Given the description of an element on the screen output the (x, y) to click on. 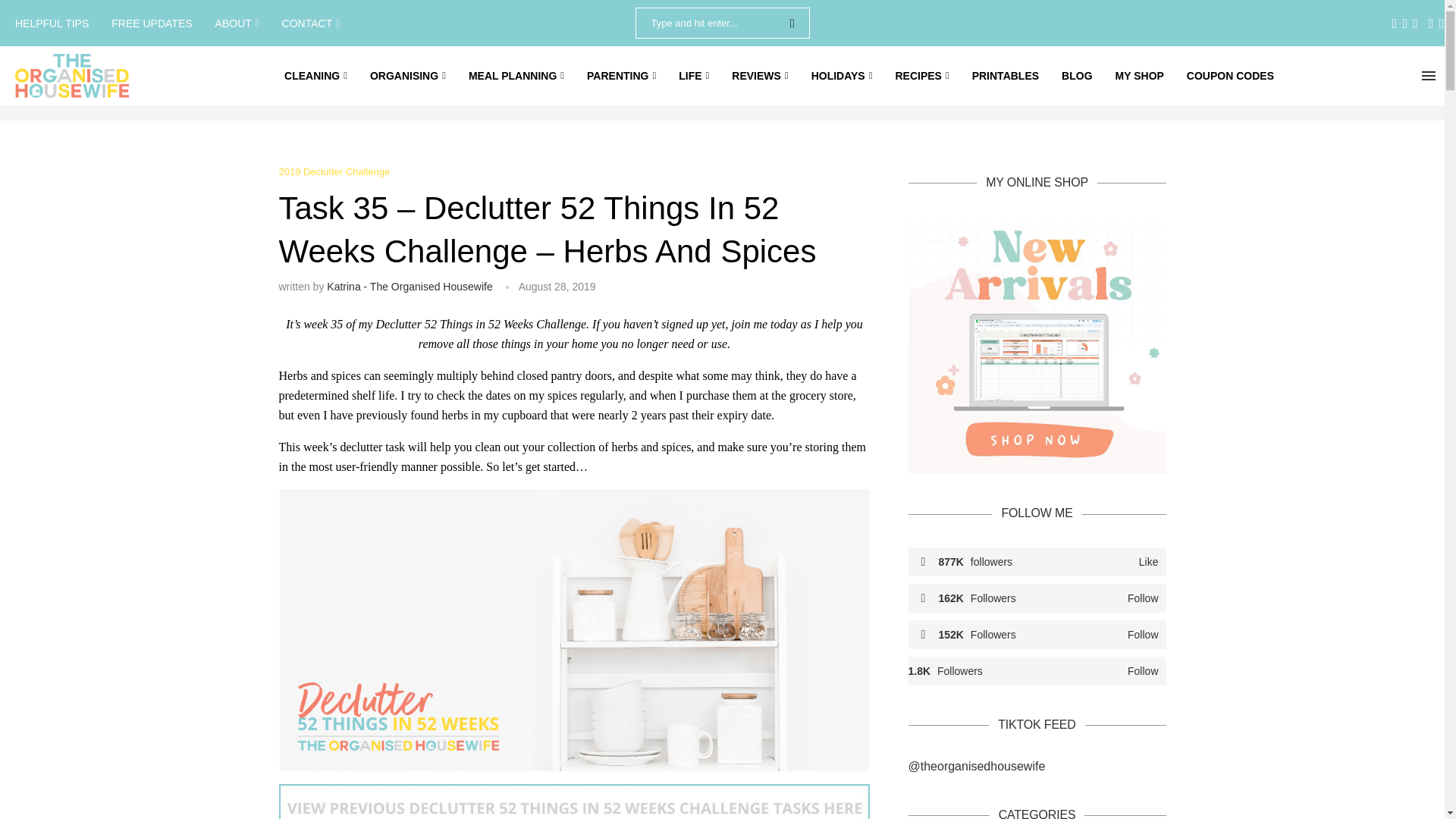
2019 weekly declutter challenge tasks for tidy home (574, 801)
Type and hit enter... (721, 22)
